Given the description of an element on the screen output the (x, y) to click on. 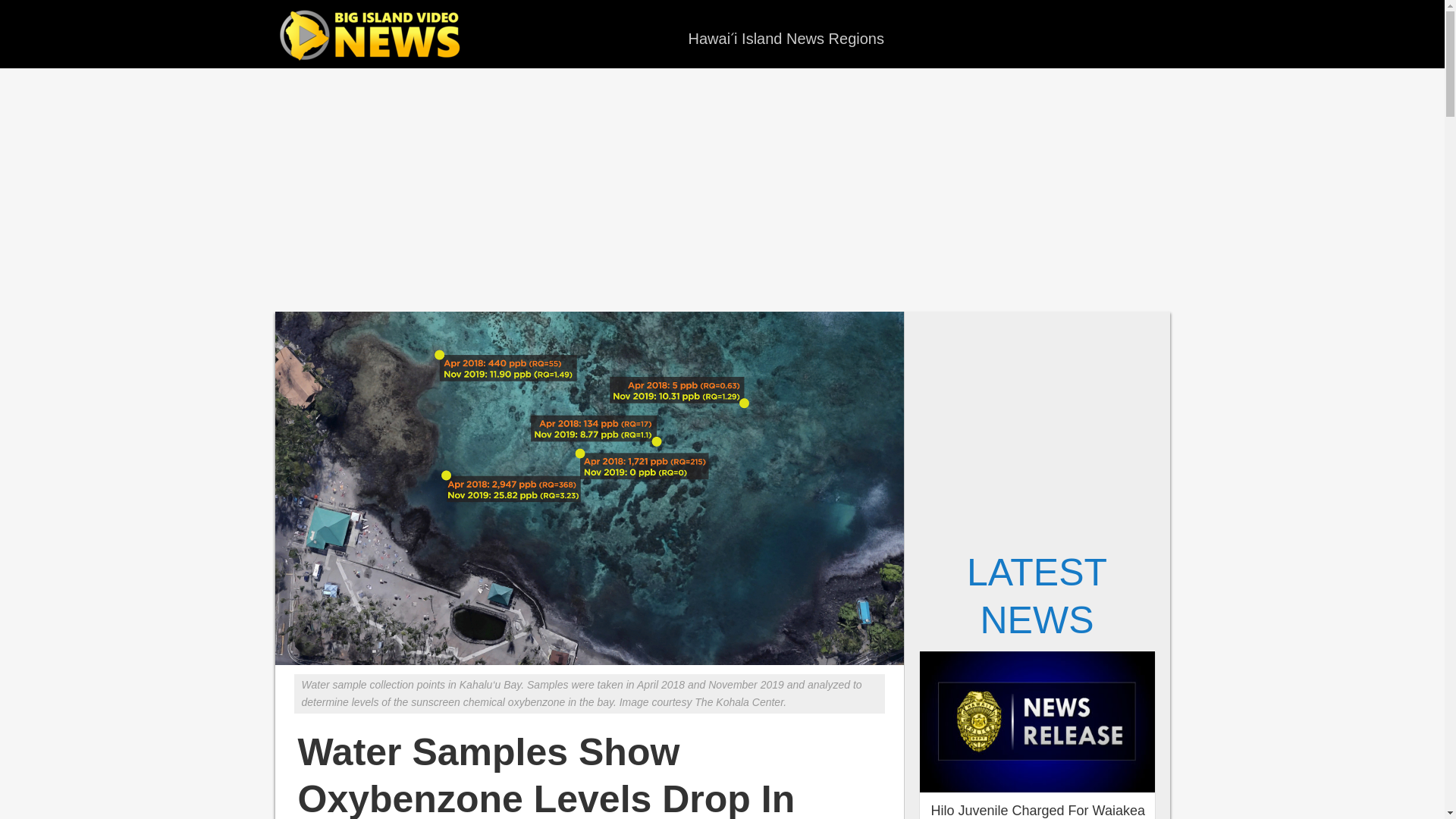
Advertisement (1037, 425)
Big Island Video News (373, 35)
Advertisement (721, 190)
Hilo Juvenile Charged For Waiakea School Property Crimes (1037, 811)
